Given the description of an element on the screen output the (x, y) to click on. 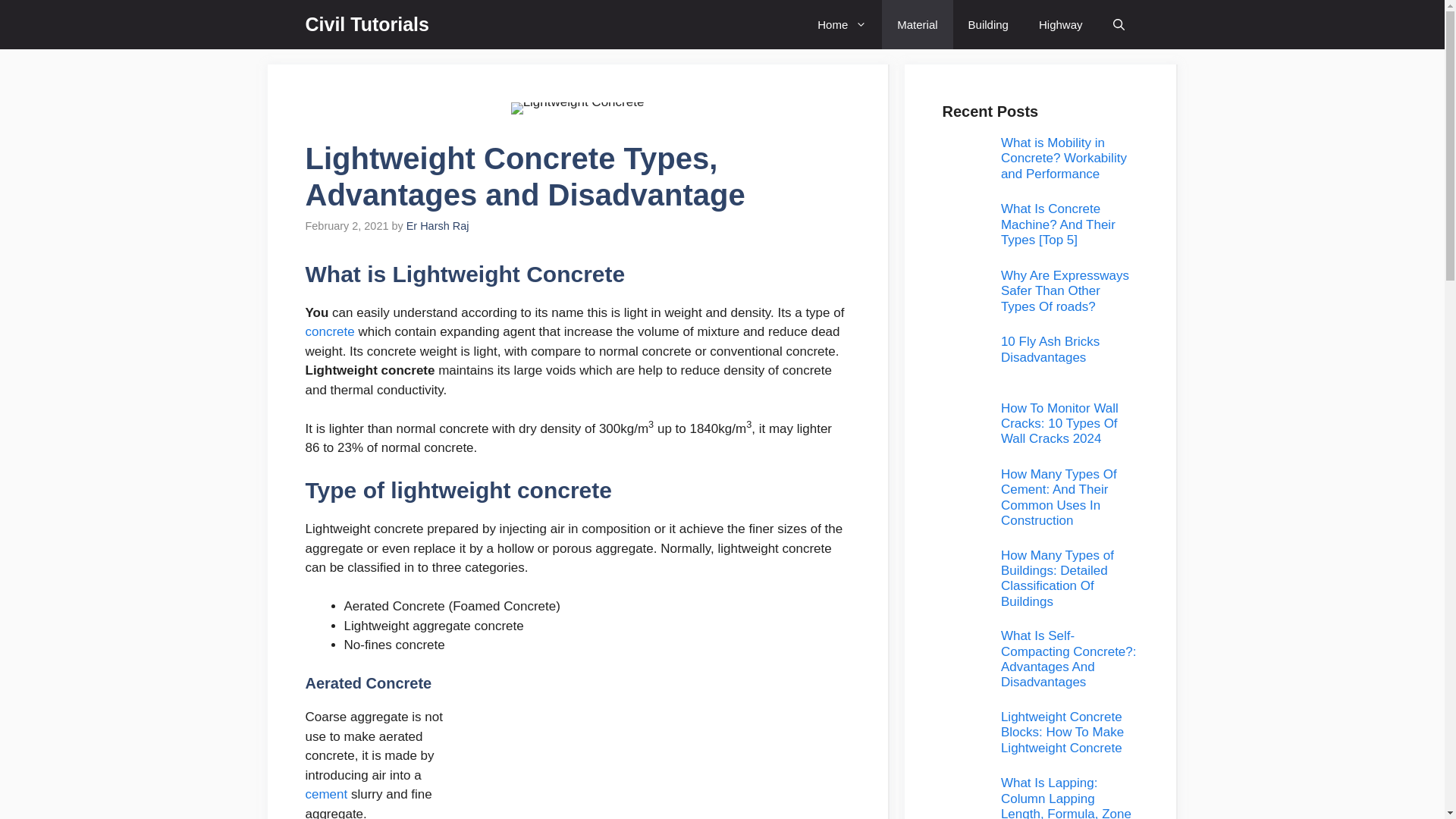
Building (988, 24)
Material (917, 24)
What is Mobility in Concrete? Workability and Performance (1063, 157)
How To Monitor Wall Cracks: 10 Types Of Wall Cracks 2024 (1059, 423)
Civil Tutorials (366, 24)
10 Fly Ash Bricks Disadvantages (1050, 348)
Highway (1060, 24)
cement (325, 794)
Home (842, 24)
